Given the description of an element on the screen output the (x, y) to click on. 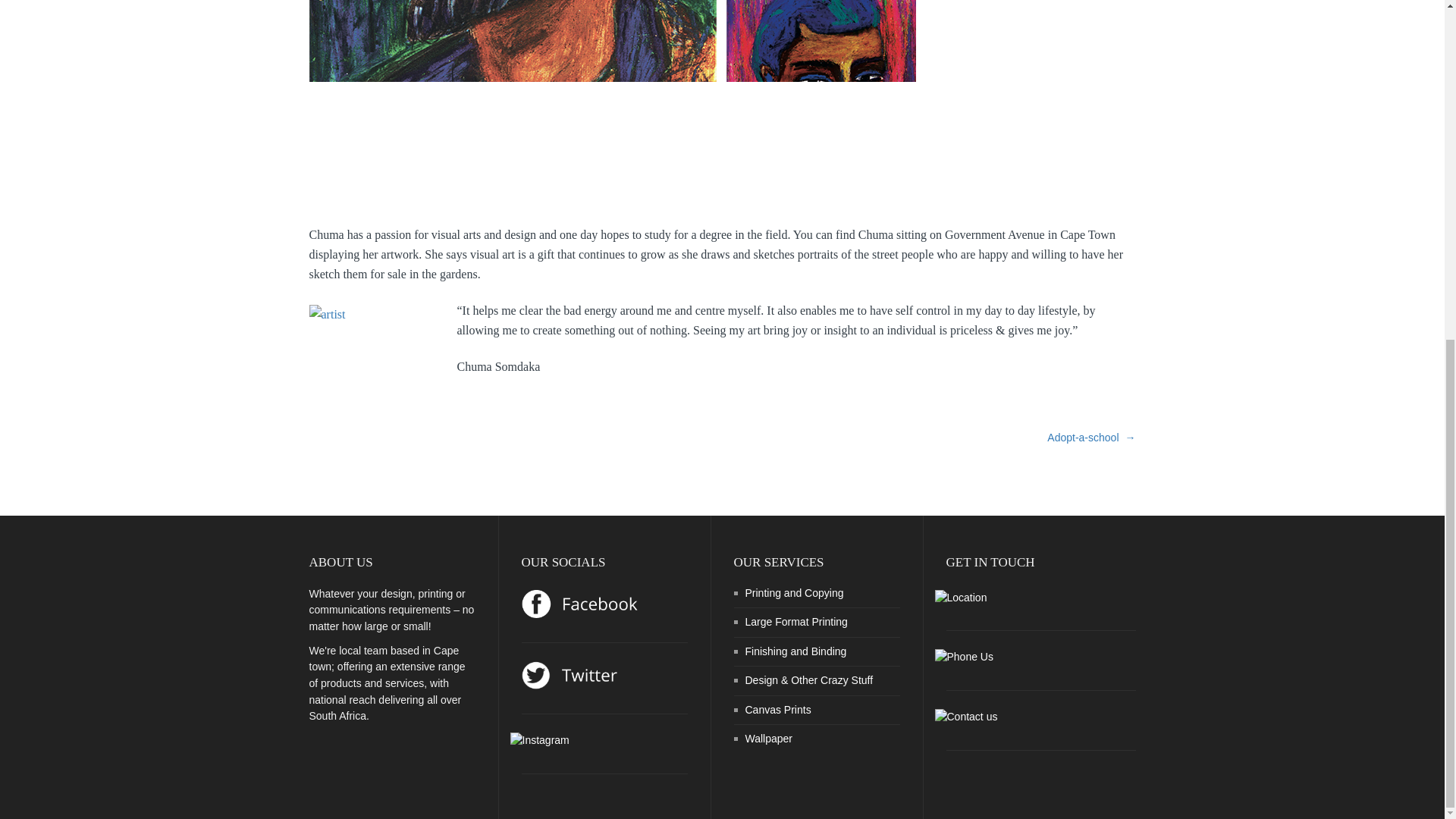
Page 1 (721, 338)
